Given the description of an element on the screen output the (x, y) to click on. 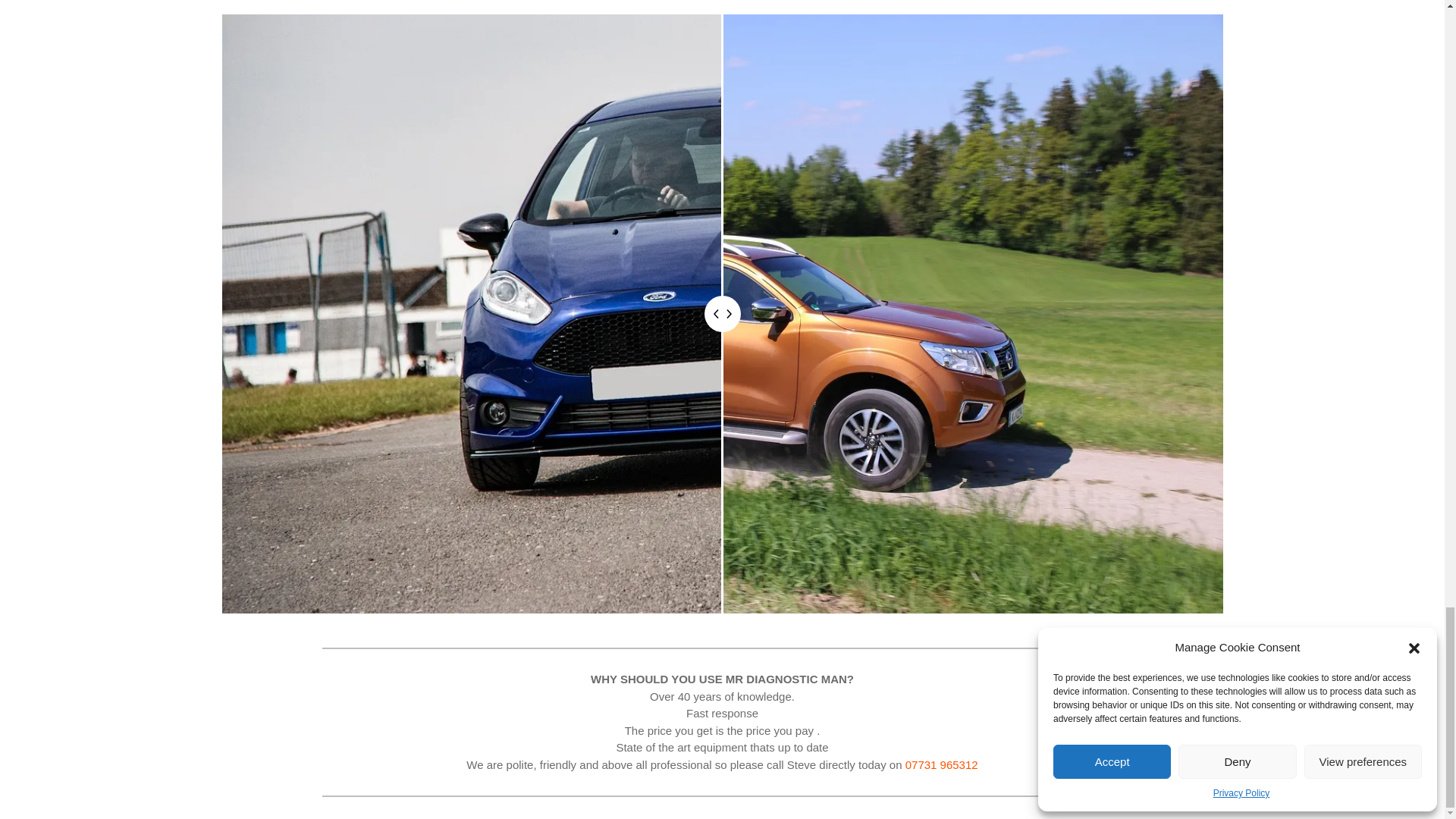
07731 965312 (941, 764)
